Given the description of an element on the screen output the (x, y) to click on. 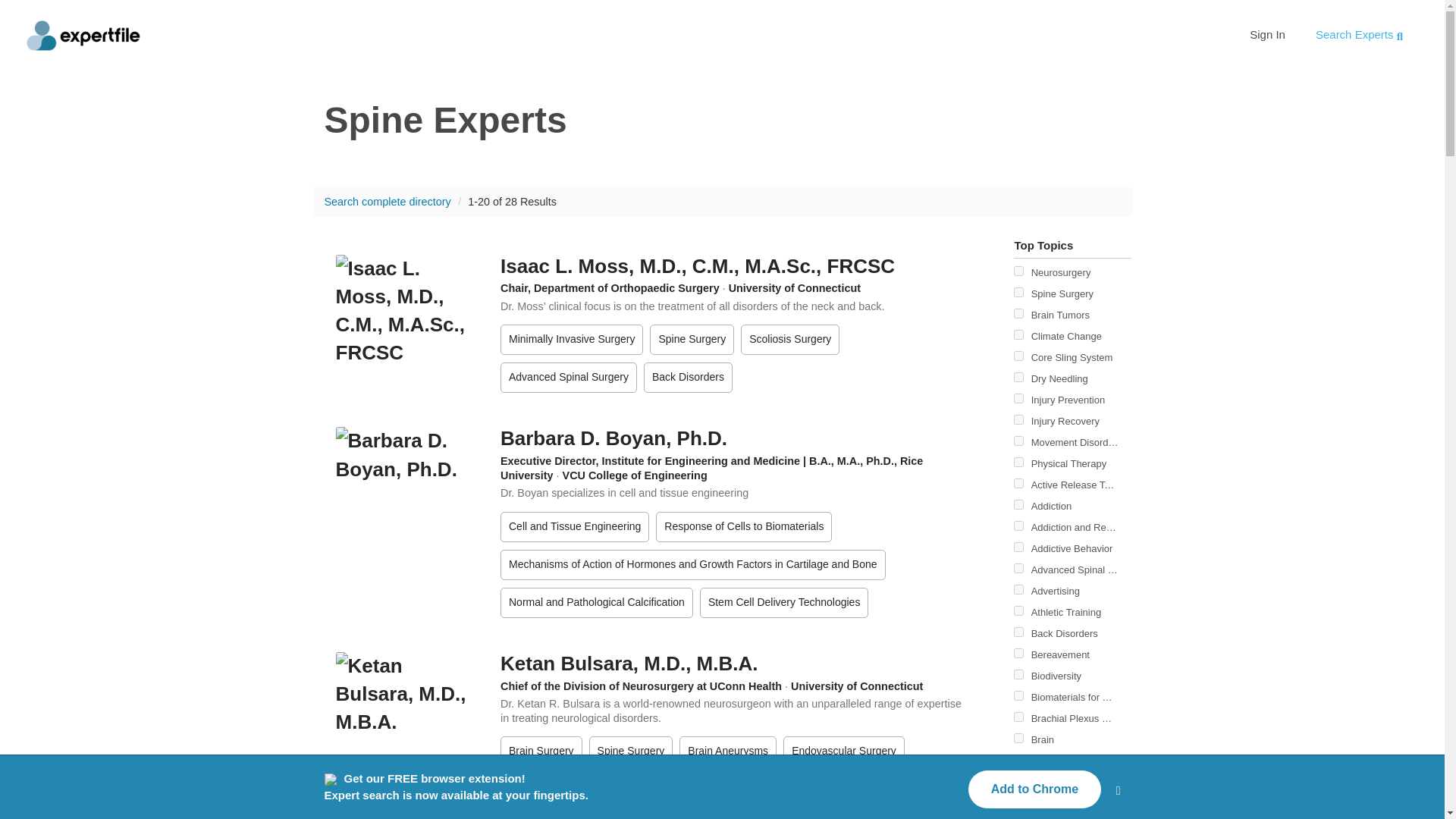
Isaac L. Moss, M.D., C.M., M.A.Sc., FRCSC (697, 265)
Neurosurgery (1018, 271)
Ketan Bulsara, M.D., M.B.A. (629, 662)
Barbara D. Boyan, Ph.D. (613, 437)
Sign In (1267, 33)
Advertising (1018, 589)
Bereavement (1018, 653)
Search complete directory (387, 201)
Search Experts (1359, 33)
Biodiversity (1018, 674)
